Given the description of an element on the screen output the (x, y) to click on. 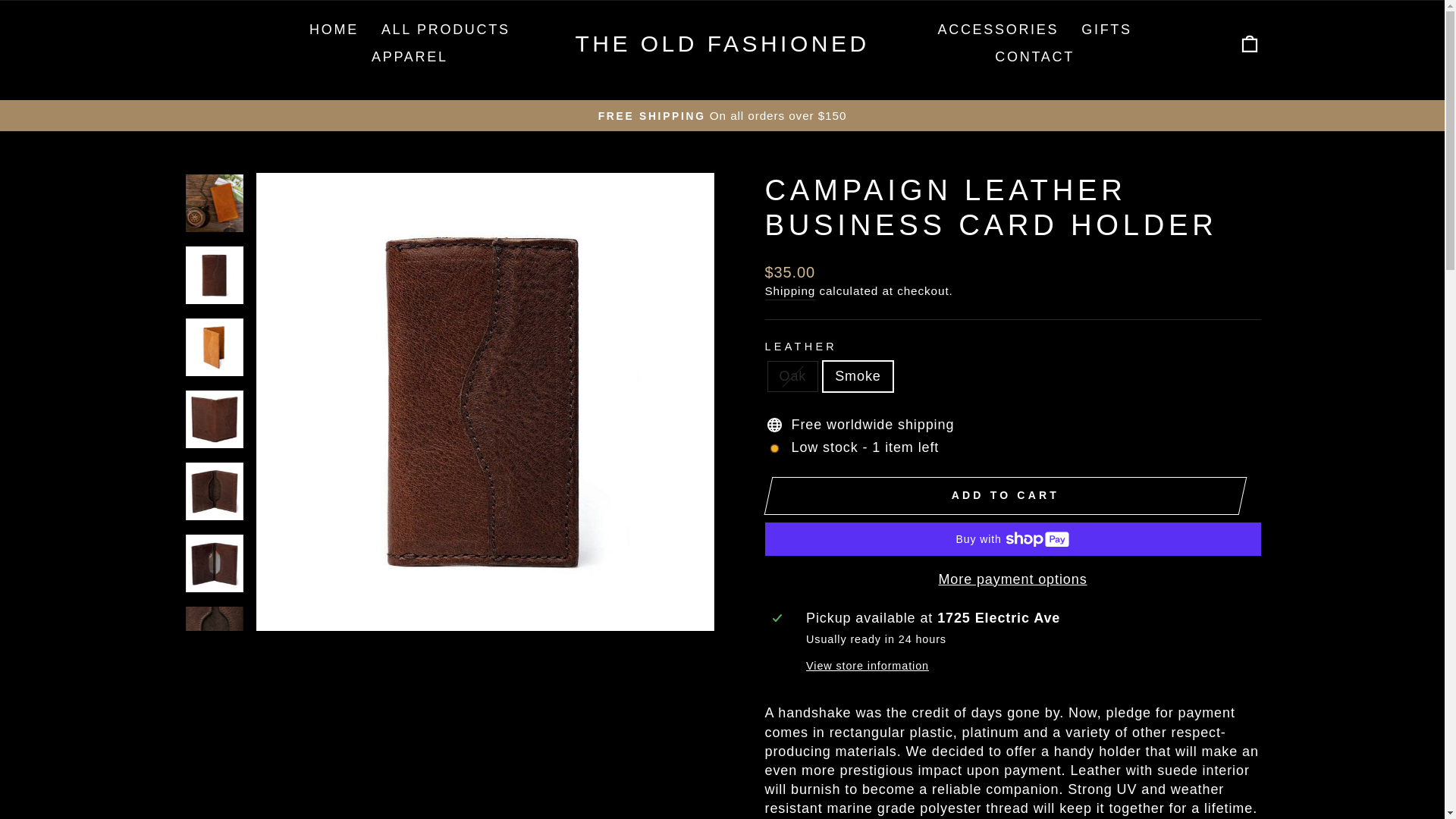
CONTACT (1035, 58)
APPAREL (409, 58)
HOME (333, 29)
ALL PRODUCTS (445, 29)
THE OLD FASHIONED (722, 43)
ACCESSORIES (998, 29)
ICON-BAG-MINIMAL (1249, 43)
GIFTS (1106, 29)
Oak (1249, 43)
